Given the description of an element on the screen output the (x, y) to click on. 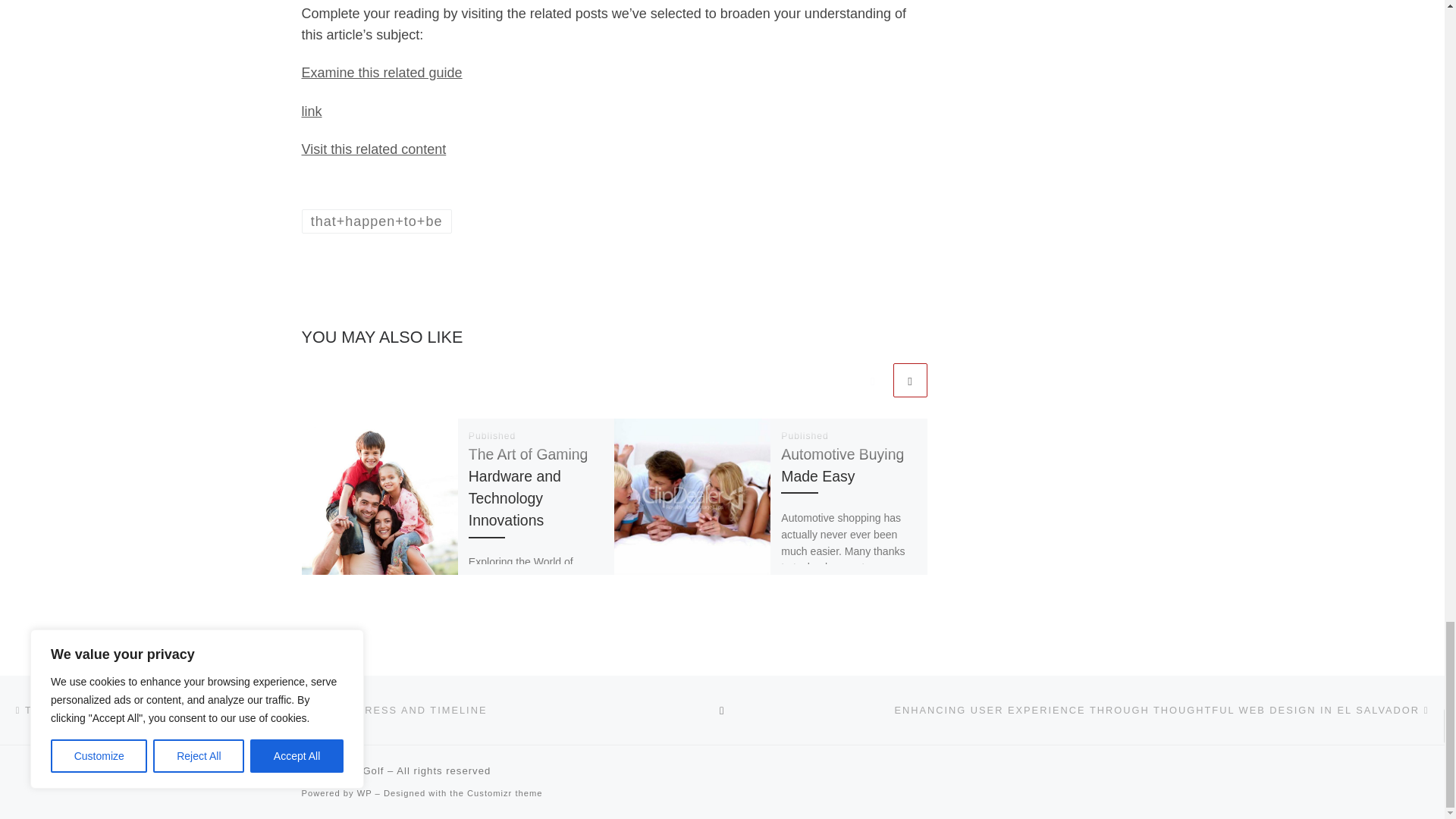
Next related articles (910, 380)
Wrt Golf (363, 770)
Visit this related content (373, 149)
Powered by WordPress (364, 792)
Previous related articles (872, 380)
Examine this related guide (382, 72)
link (311, 111)
